Given the description of an element on the screen output the (x, y) to click on. 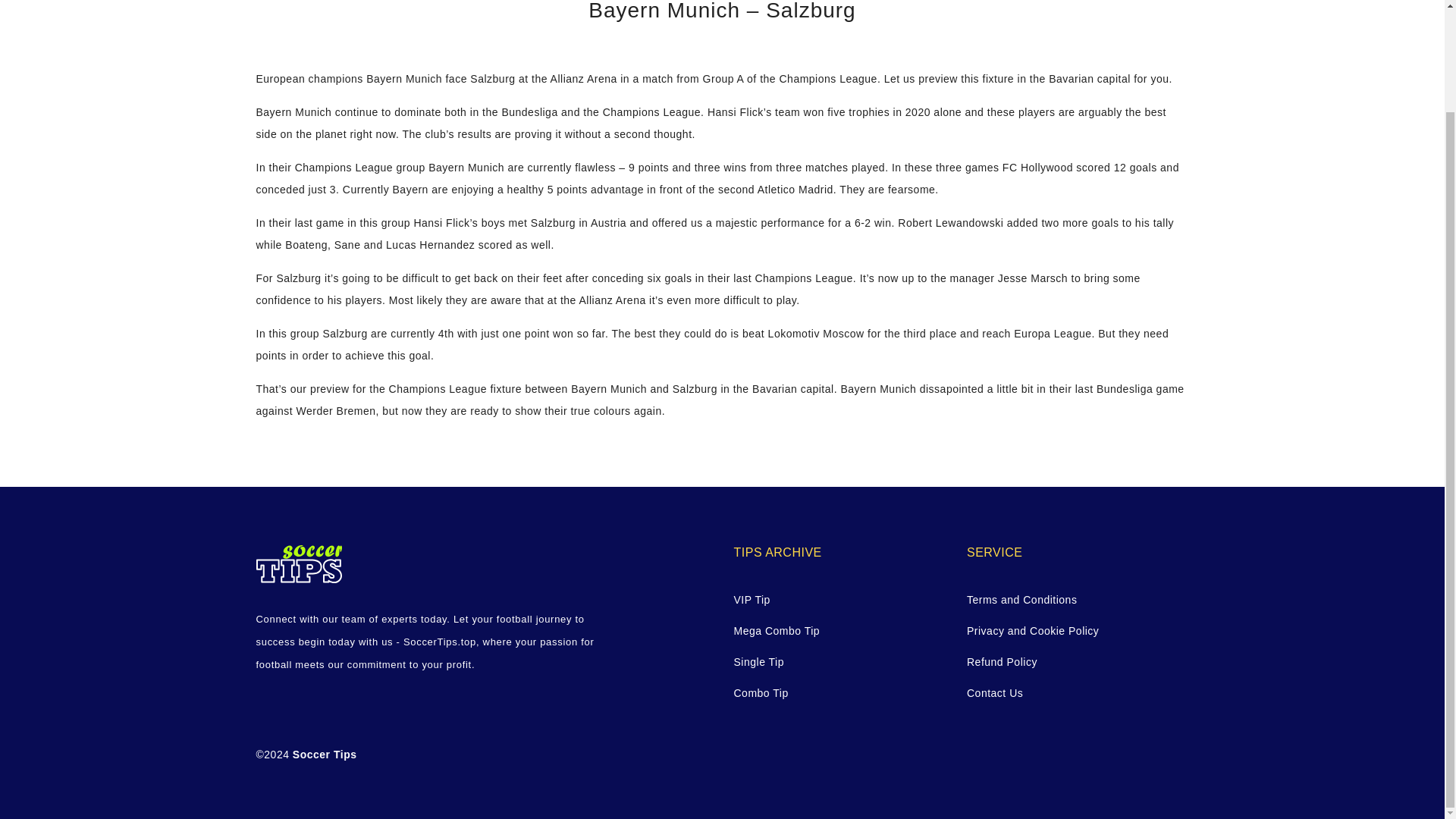
Single Tip Archive (838, 662)
Refund Policy (1071, 662)
Mega Combo Tip Archive (838, 630)
Contact Us (1071, 693)
Combo Tip Archive (838, 693)
Soccer Tips (324, 754)
Mega Combo Tip (838, 630)
Single Tip (838, 662)
Terms and Conditions (1071, 599)
VIP Tip (838, 599)
Soccer Tips (324, 754)
Privacy and Cookie Policy (1071, 630)
VIP Tip Archive (838, 599)
Combo Tip (838, 693)
